Given the description of an element on the screen output the (x, y) to click on. 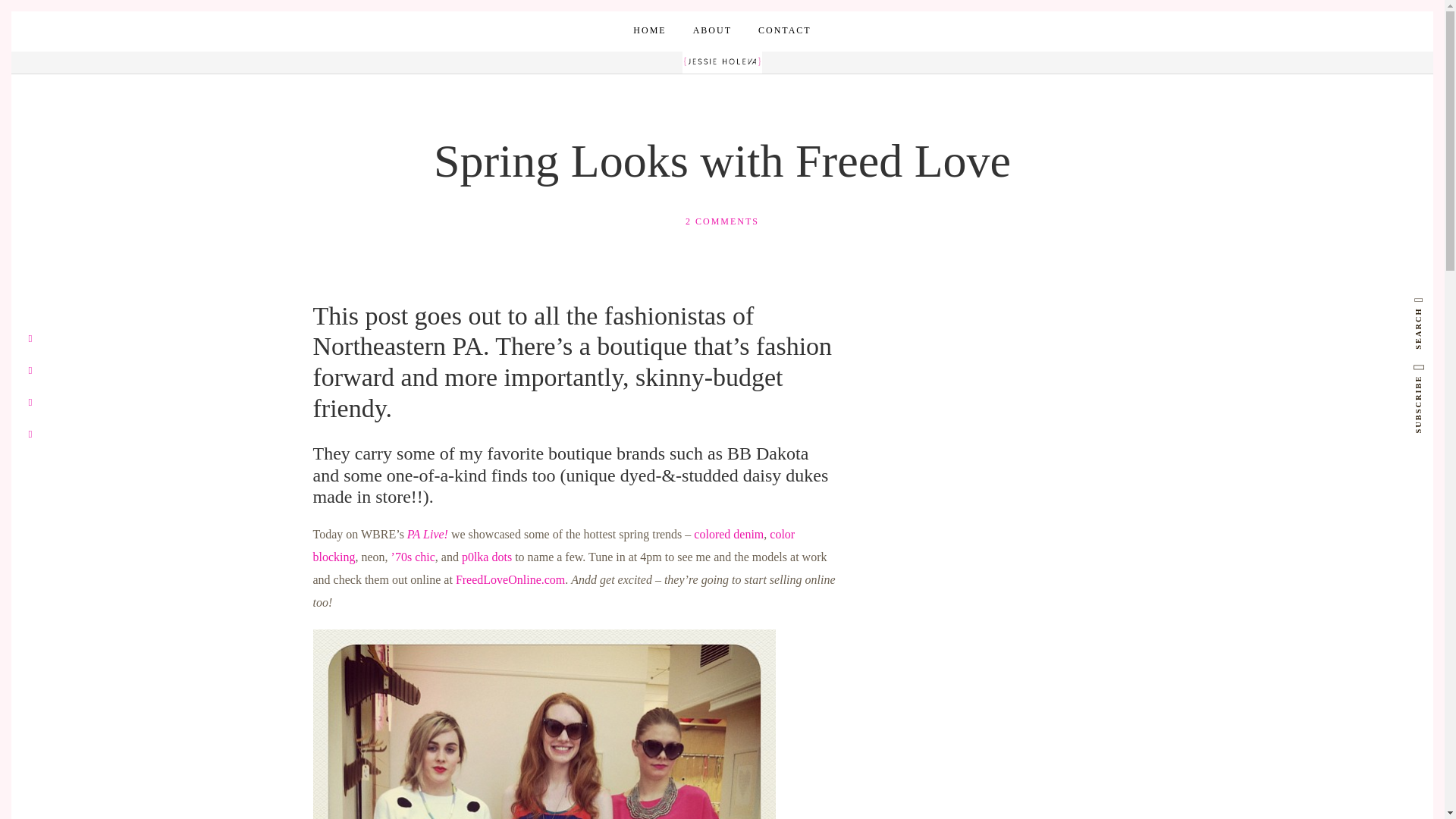
FreedLoveOnline.com (509, 579)
p0lka dots (486, 556)
CONTACT (784, 30)
Blog by Jessie Holeva (721, 60)
ABOUT (712, 30)
color blocking (553, 545)
2 COMMENTS (721, 221)
PA Live! (427, 533)
colored denim (728, 533)
HOME (649, 30)
Freed Love Models (543, 724)
